Given the description of an element on the screen output the (x, y) to click on. 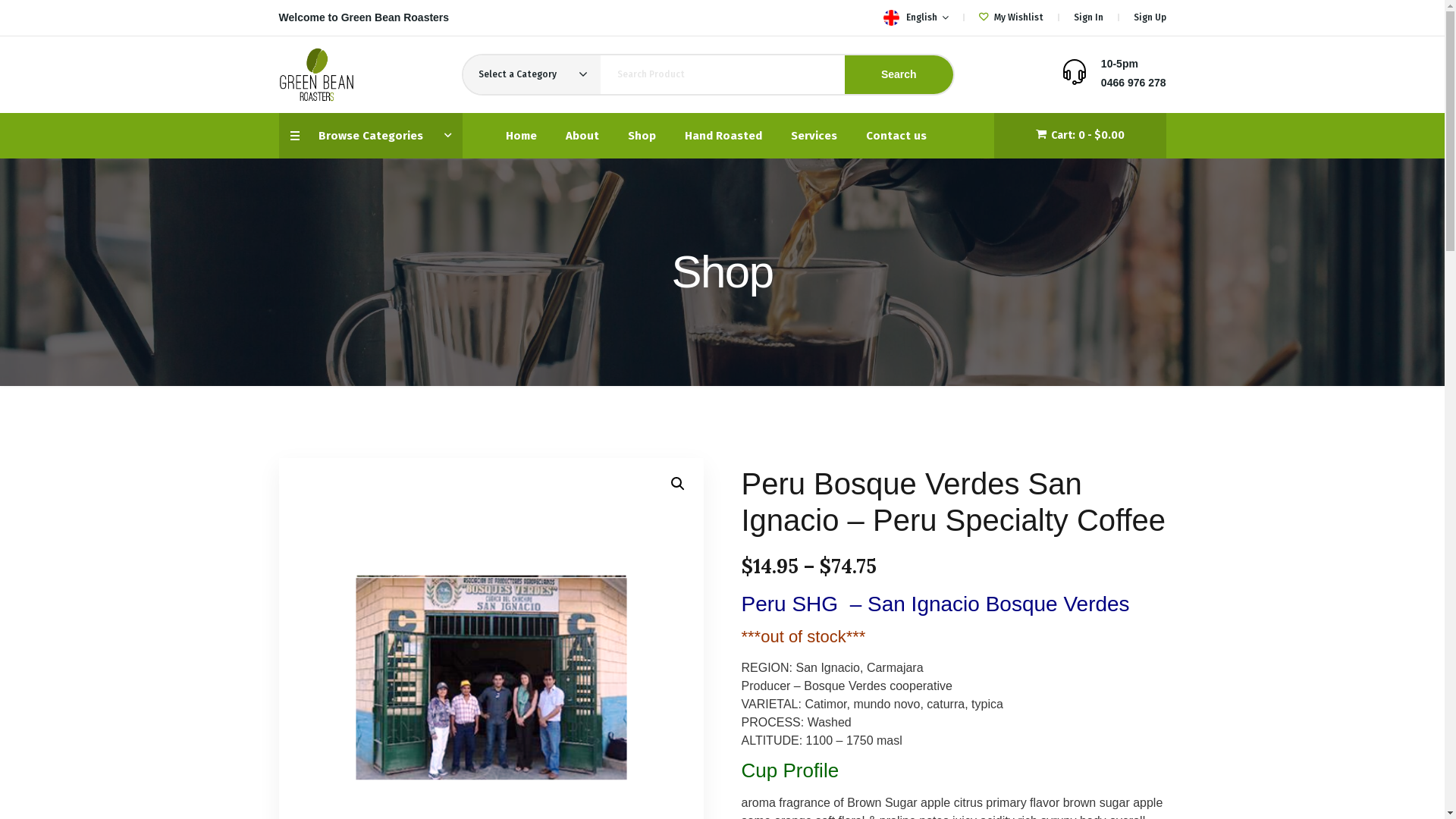
English Element type: hover (890, 17)
Contact us Element type: text (896, 135)
Hand Roasted Element type: text (722, 135)
Home Element type: text (520, 135)
Green Bean Roasters - Melbourne Element type: hover (316, 72)
My Wishlist Element type: text (1010, 17)
Services Element type: text (813, 135)
0466 976 278 Element type: text (1133, 82)
About Element type: text (582, 135)
English Element type: text (914, 17)
Sign In Element type: text (1088, 17)
Browse Categories Element type: text (370, 135)
Shop Element type: text (641, 135)
Search Element type: text (898, 74)
Sign Up Element type: text (1148, 17)
